Given the description of an element on the screen output the (x, y) to click on. 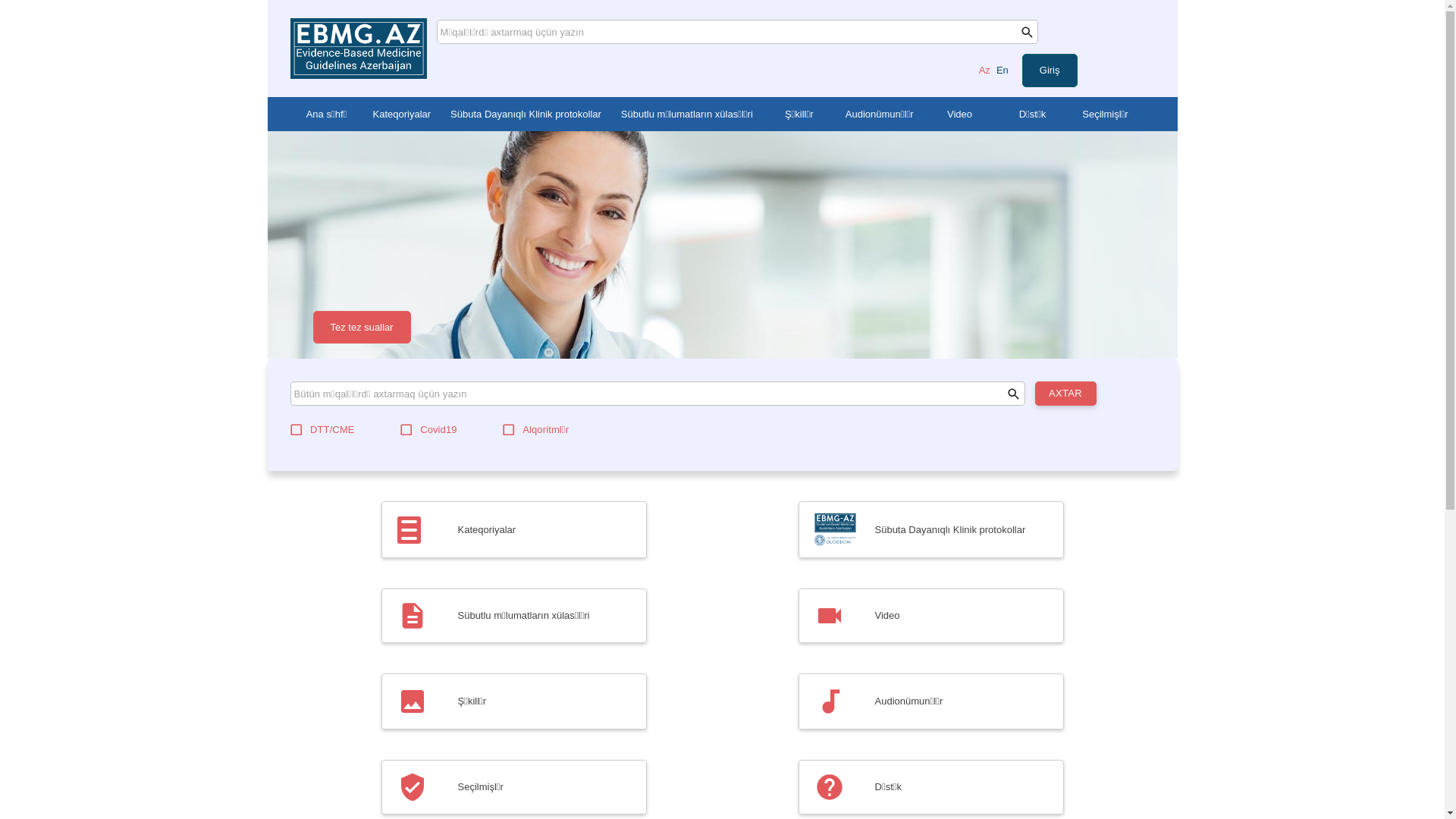
Video Element type: text (930, 615)
Kateqoriyalar Element type: text (513, 529)
Video Element type: text (958, 114)
En Element type: text (1002, 69)
Tez tez suallar Element type: text (361, 327)
Kateqoriyalar Element type: text (401, 114)
Az Element type: text (984, 69)
AXTAR Element type: text (1064, 393)
